Given the description of an element on the screen output the (x, y) to click on. 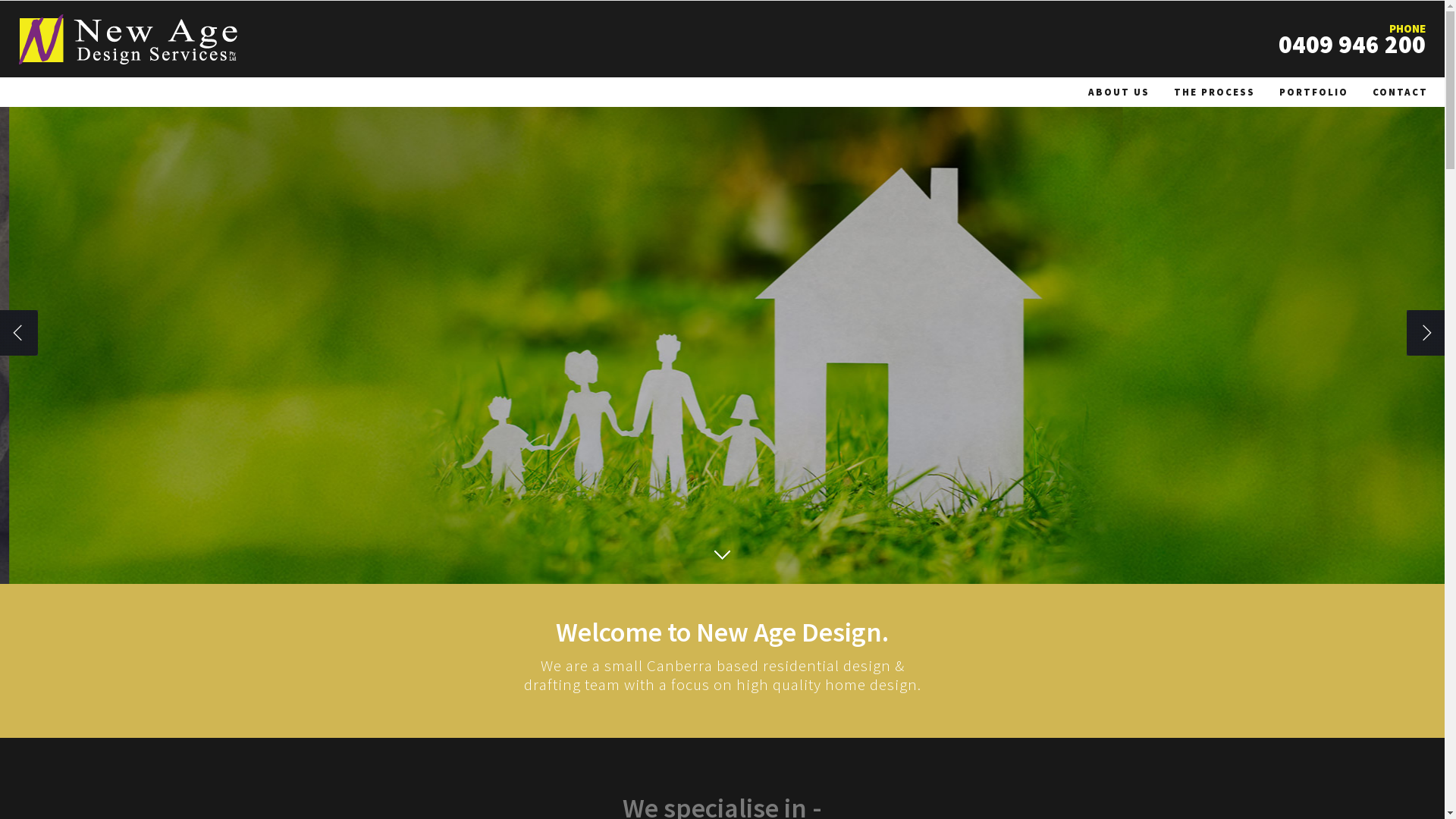
ABOUT US Element type: text (1118, 91)
Next Element type: text (1425, 332)
Prev Element type: text (18, 332)
New Age Design Services Element type: text (127, 39)
PORTFOLIO Element type: text (1313, 91)
THE PROCESS Element type: text (1214, 91)
CONTACT Element type: text (1399, 91)
